Given the description of an element on the screen output the (x, y) to click on. 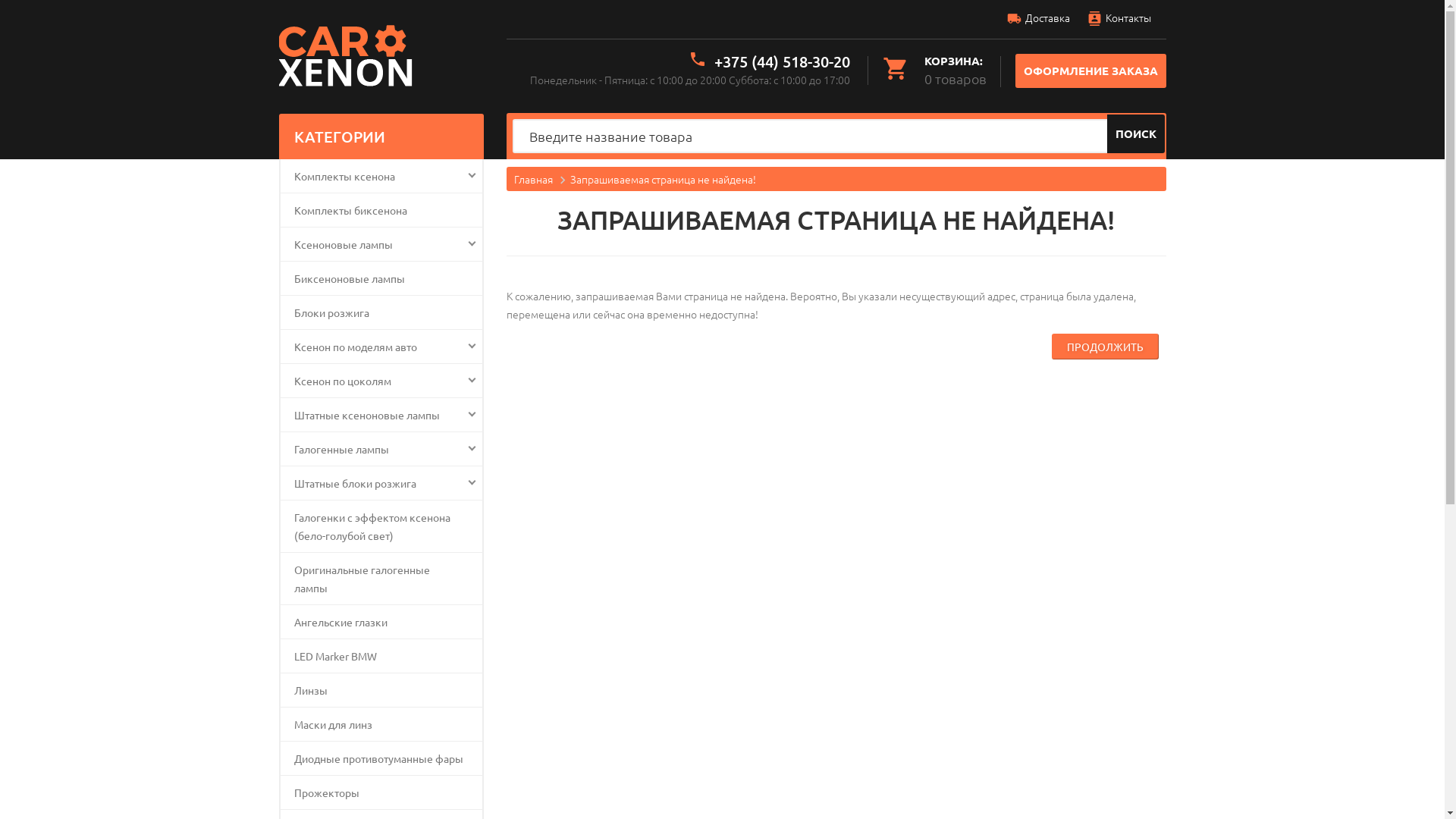
XenonShop.by Element type: hover (348, 57)
+375 (44) 518-30-20 Element type: text (782, 61)
LED Marker BMW Element type: text (381, 655)
